Given the description of an element on the screen output the (x, y) to click on. 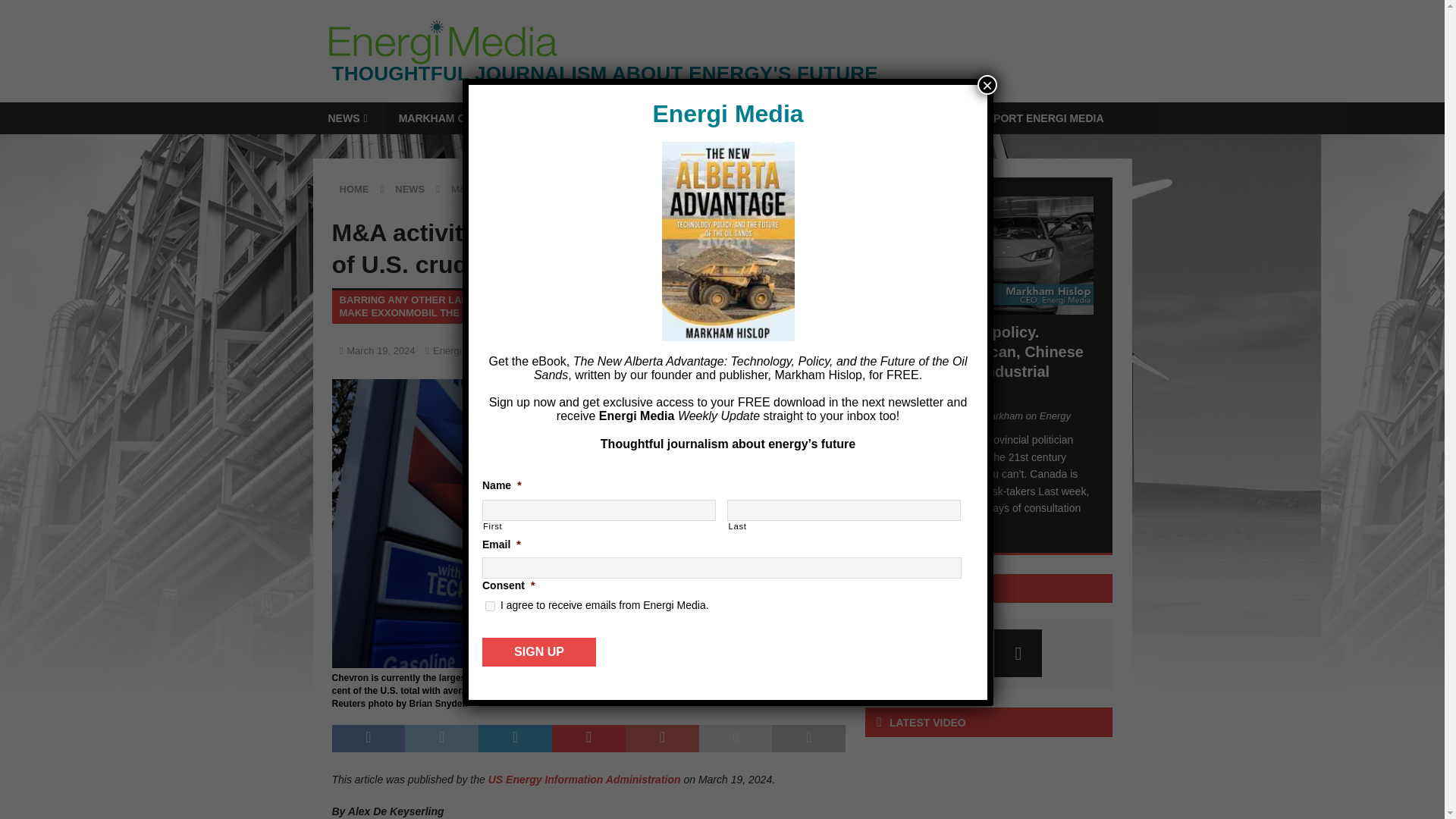
ENERGI STUDENT RESOURCES (857, 118)
Thoughtful Journalism About Energy's Future (729, 73)
1 (489, 605)
NEWS (347, 118)
SUPPORT ENERGI MEDIA (1036, 118)
News (514, 350)
MARKHAM ON ENERGY (459, 118)
ENERGI NOTES (591, 118)
